Given the description of an element on the screen output the (x, y) to click on. 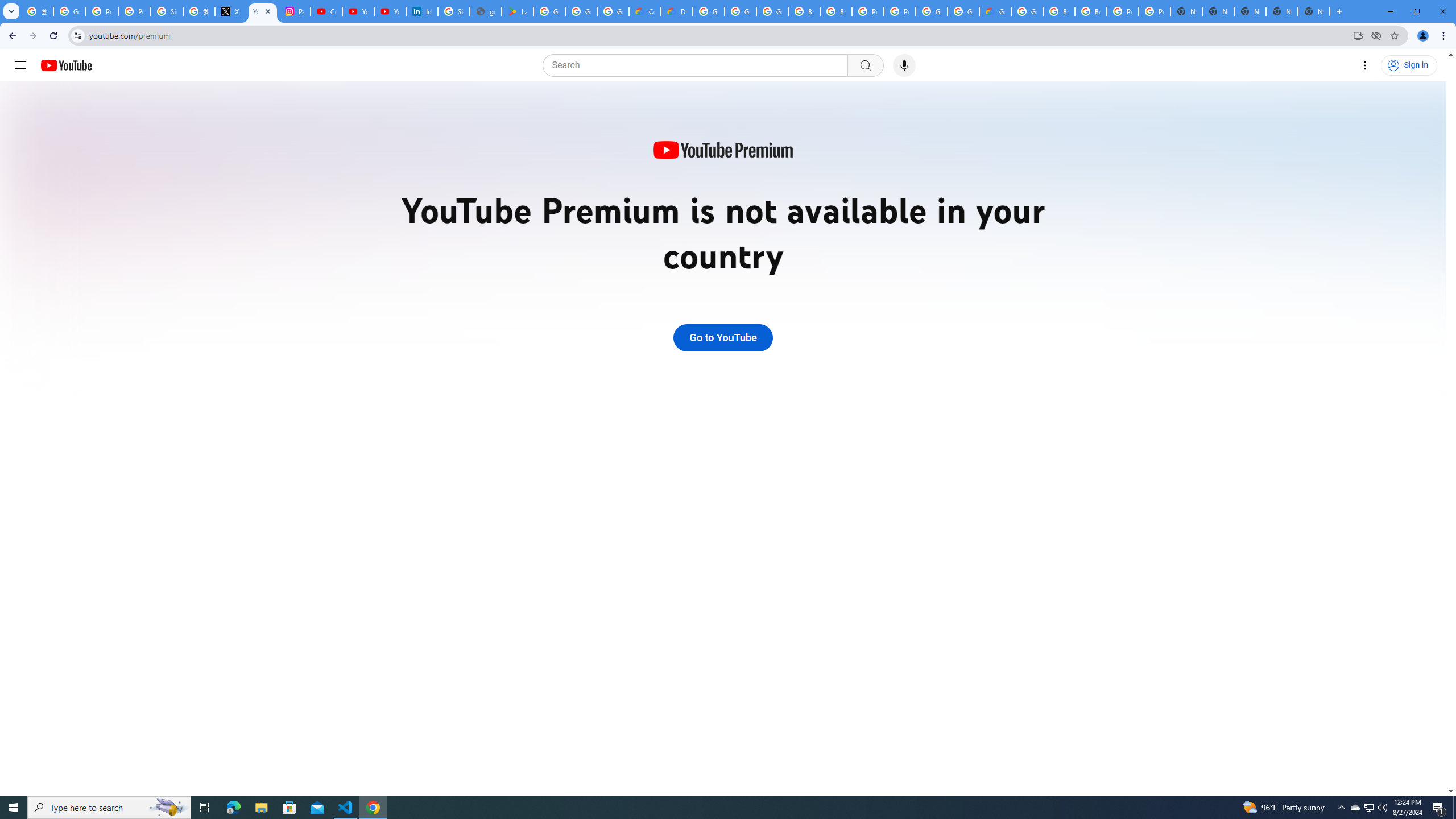
New Tab (1313, 11)
Google Cloud Platform (1027, 11)
Google Cloud Estimate Summary (995, 11)
Privacy Help Center - Policies Help (101, 11)
